Given the description of an element on the screen output the (x, y) to click on. 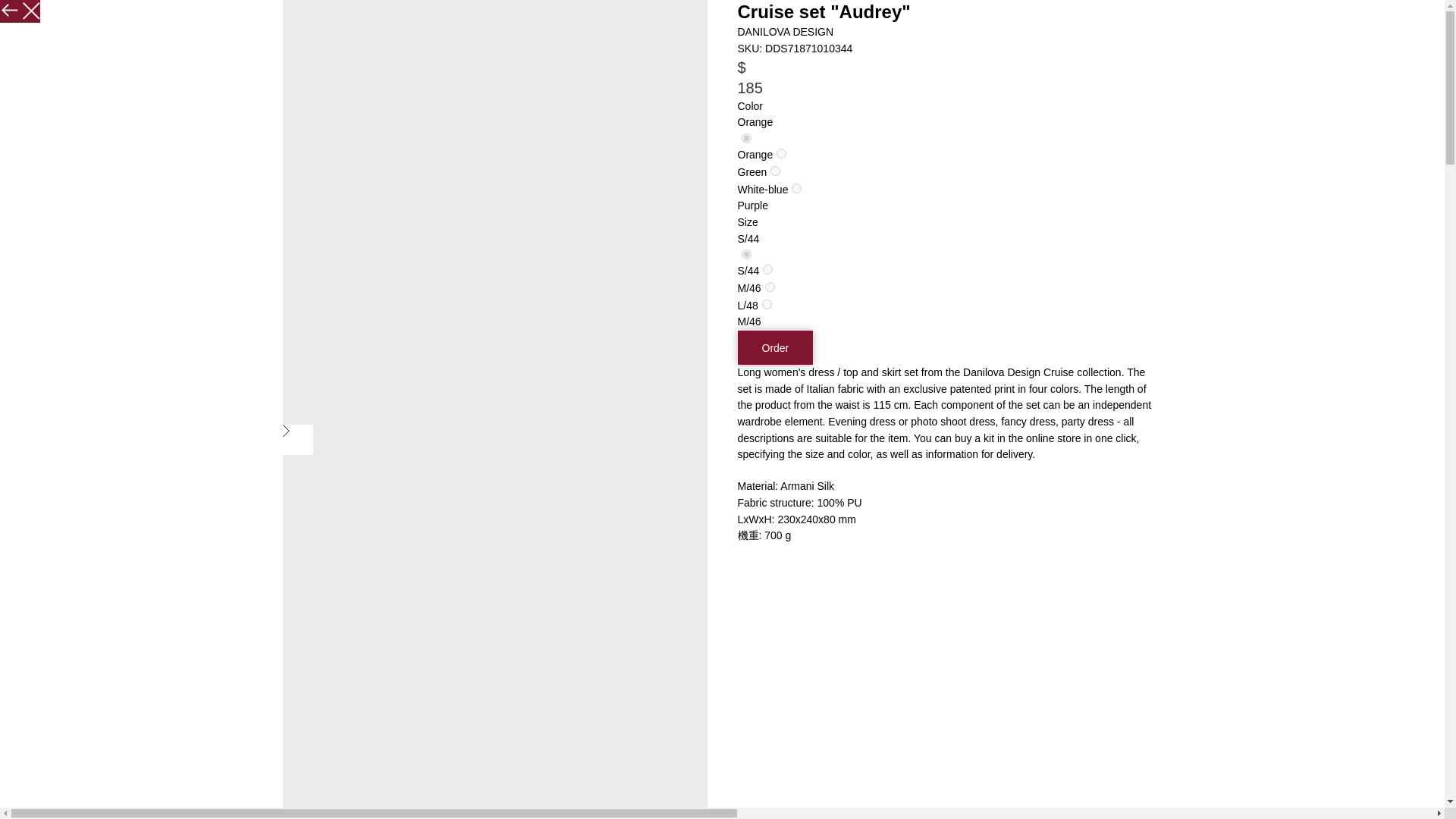
Back (11, 7)
White-blue (775, 171)
Order (774, 347)
Green (781, 153)
Purple (797, 188)
Orange (746, 138)
